Given the description of an element on the screen output the (x, y) to click on. 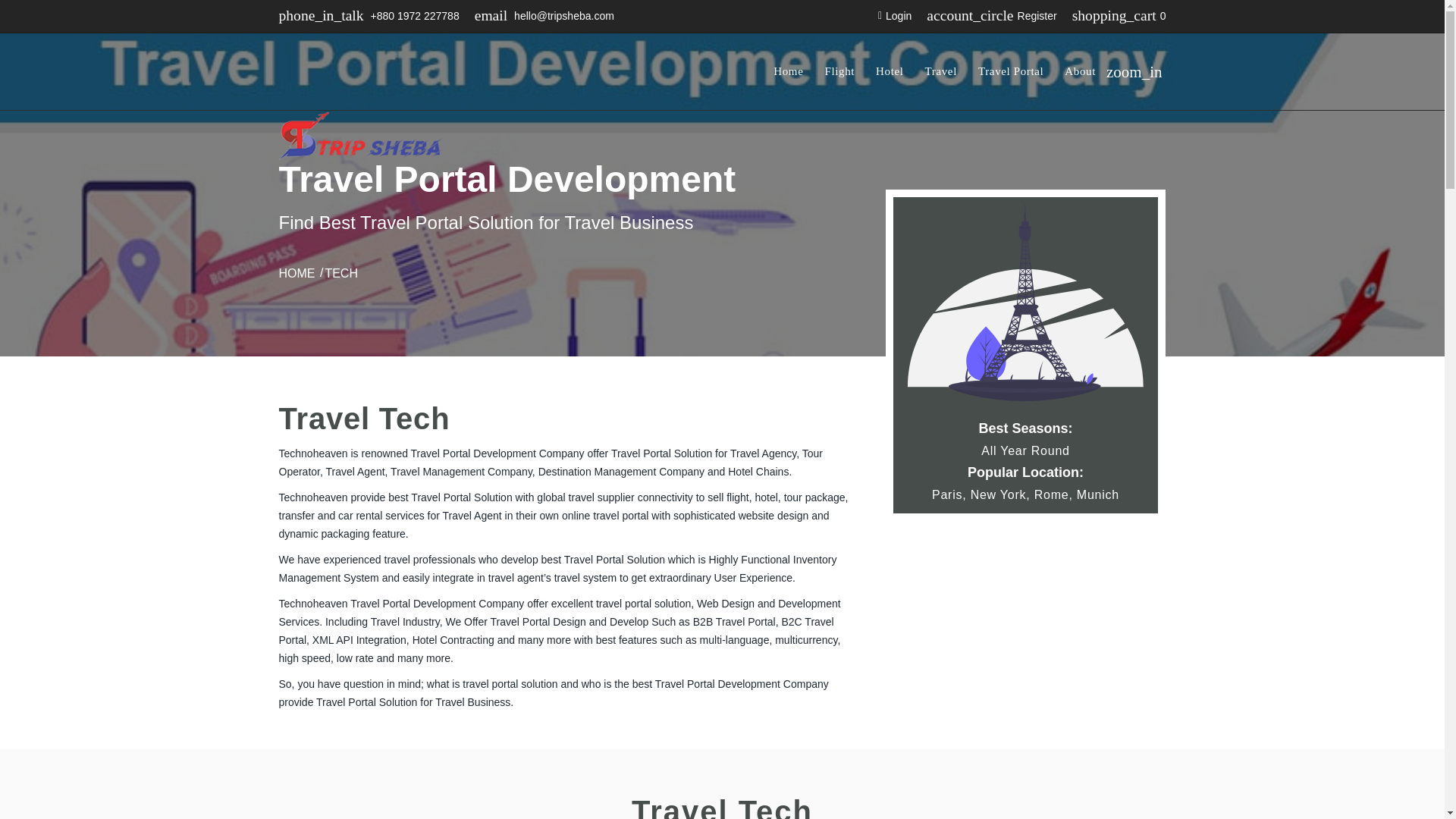
Login (894, 15)
About (1080, 86)
Travel Portal (1010, 86)
Flight (839, 86)
HOME (297, 273)
Travel (940, 86)
Home (788, 86)
Hotel (889, 86)
